Given the description of an element on the screen output the (x, y) to click on. 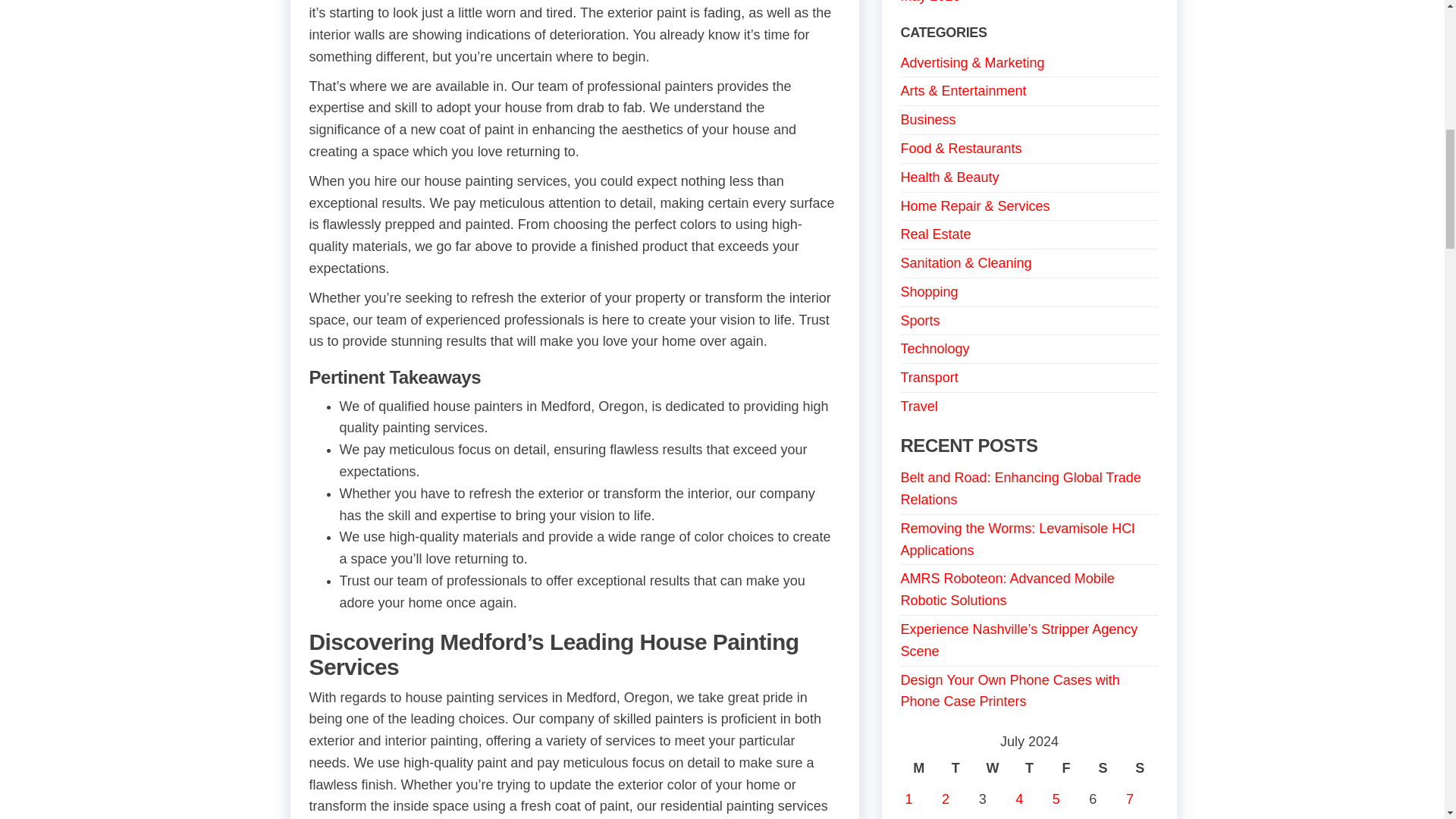
Technology (935, 348)
Sports (920, 320)
Design Your Own Phone Cases with Phone Case Printers (1010, 691)
AMRS Roboteon: Advanced Mobile Robotic Solutions (1008, 589)
Removing the Worms: Levamisole HCl Applications (1018, 538)
Travel (919, 406)
Sunday (1139, 767)
Tuesday (955, 767)
May 2023 (930, 2)
Wednesday (992, 767)
Business (928, 119)
Friday (1066, 767)
Real Estate (936, 233)
Belt and Road: Enhancing Global Trade Relations (1021, 488)
Transport (929, 377)
